Given the description of an element on the screen output the (x, y) to click on. 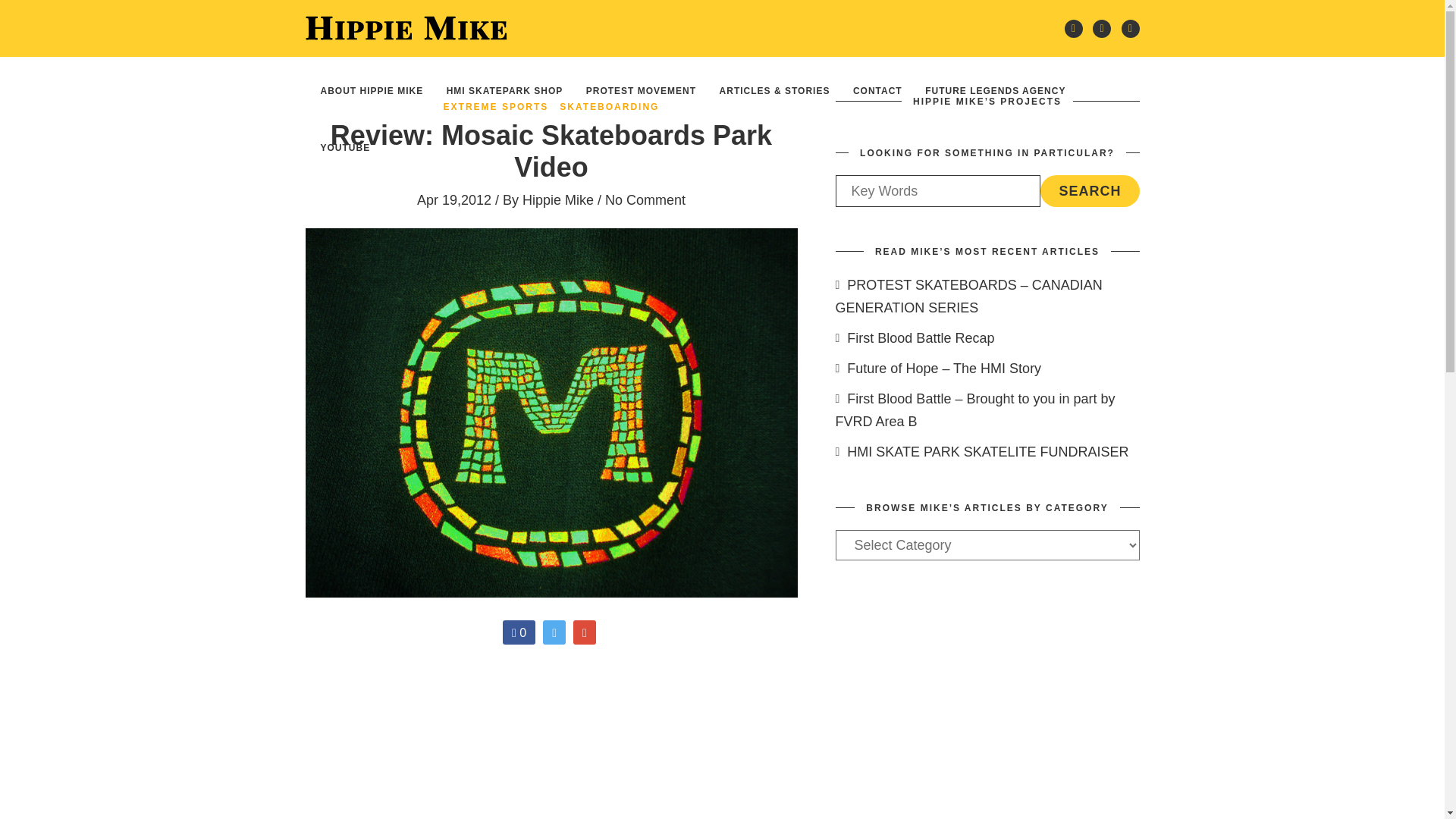
Search (1089, 191)
ABOUT HIPPIE MIKE (371, 90)
Search (1089, 191)
HMI SKATE PARK SKATELITE FUNDRAISER (982, 451)
FUTURE LEGENDS AGENCY (995, 90)
PROTEST MOVEMENT (640, 90)
EXTREME SPORTS (496, 106)
SKATEBOARDING (609, 106)
CONTACT (877, 90)
HMI SKATEPARK SHOP (504, 90)
